Given the description of an element on the screen output the (x, y) to click on. 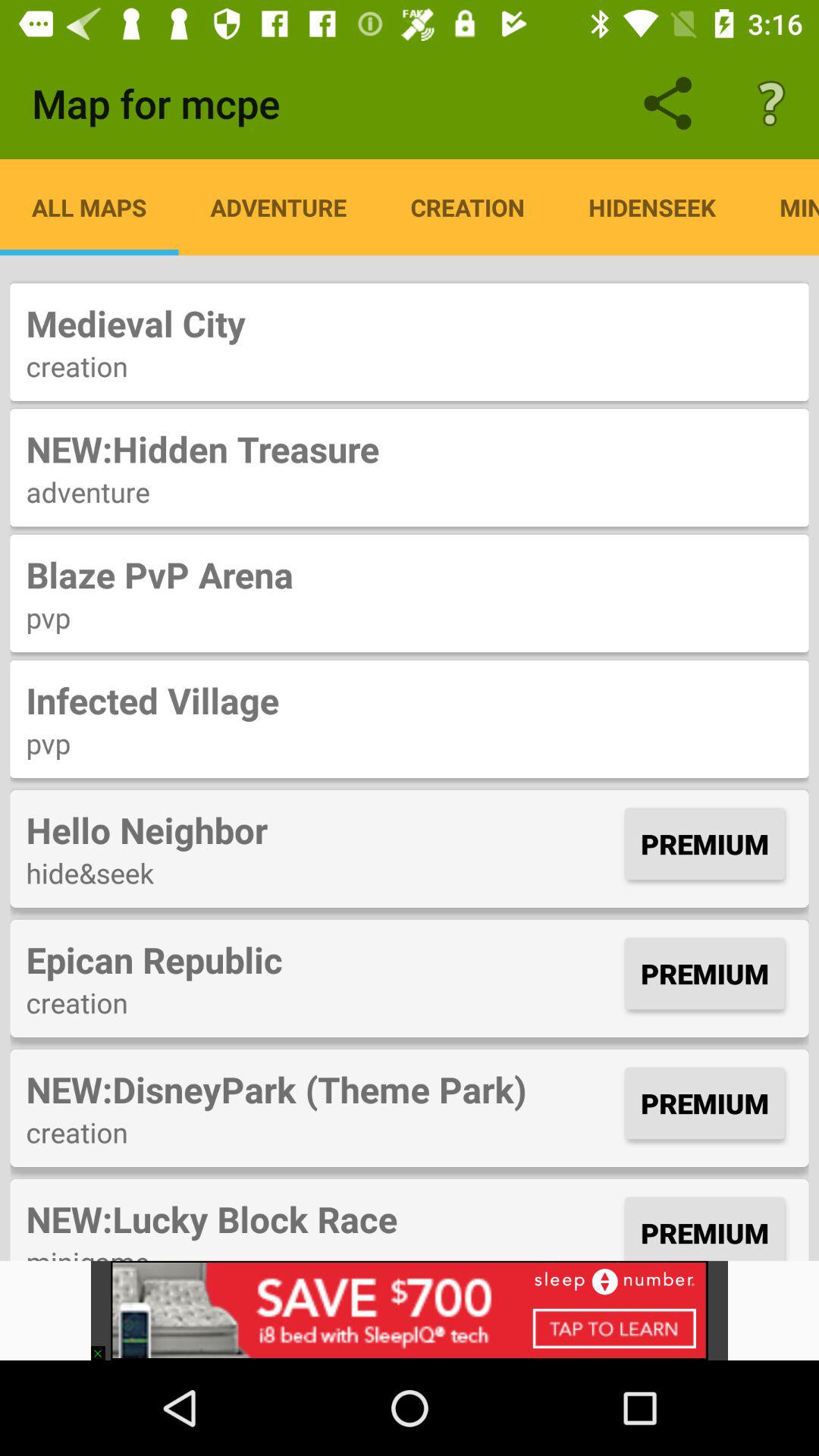
turn off the item below the minigame (105, 1346)
